Given the description of an element on the screen output the (x, y) to click on. 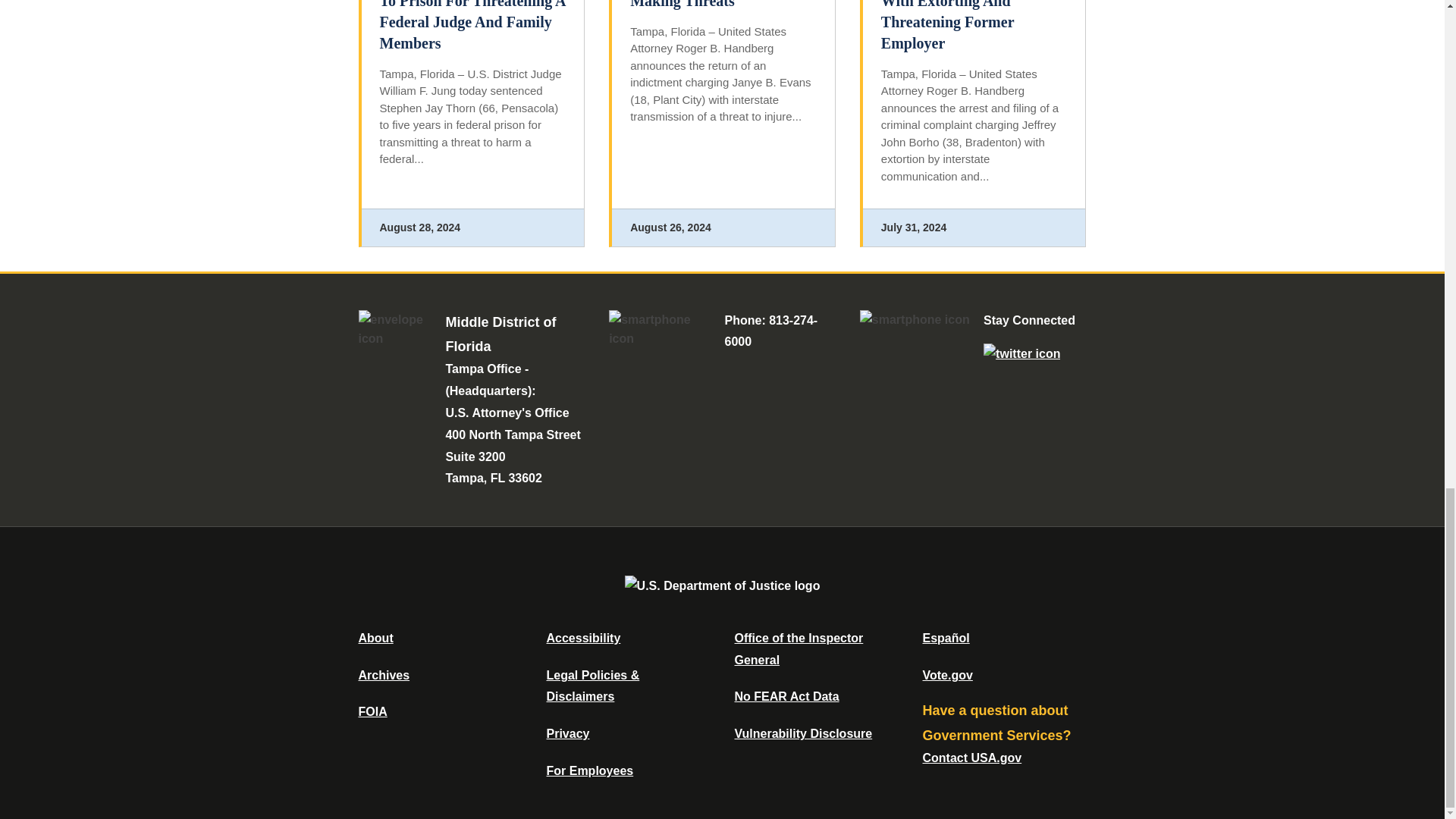
Department of Justice Archive (383, 675)
Accessibility Statement (583, 637)
For Employees (589, 770)
Office of Information Policy (372, 711)
About DOJ (375, 637)
Legal Policies and Disclaimers (592, 686)
Data Posted Pursuant To The No Fear Act (785, 696)
